Given the description of an element on the screen output the (x, y) to click on. 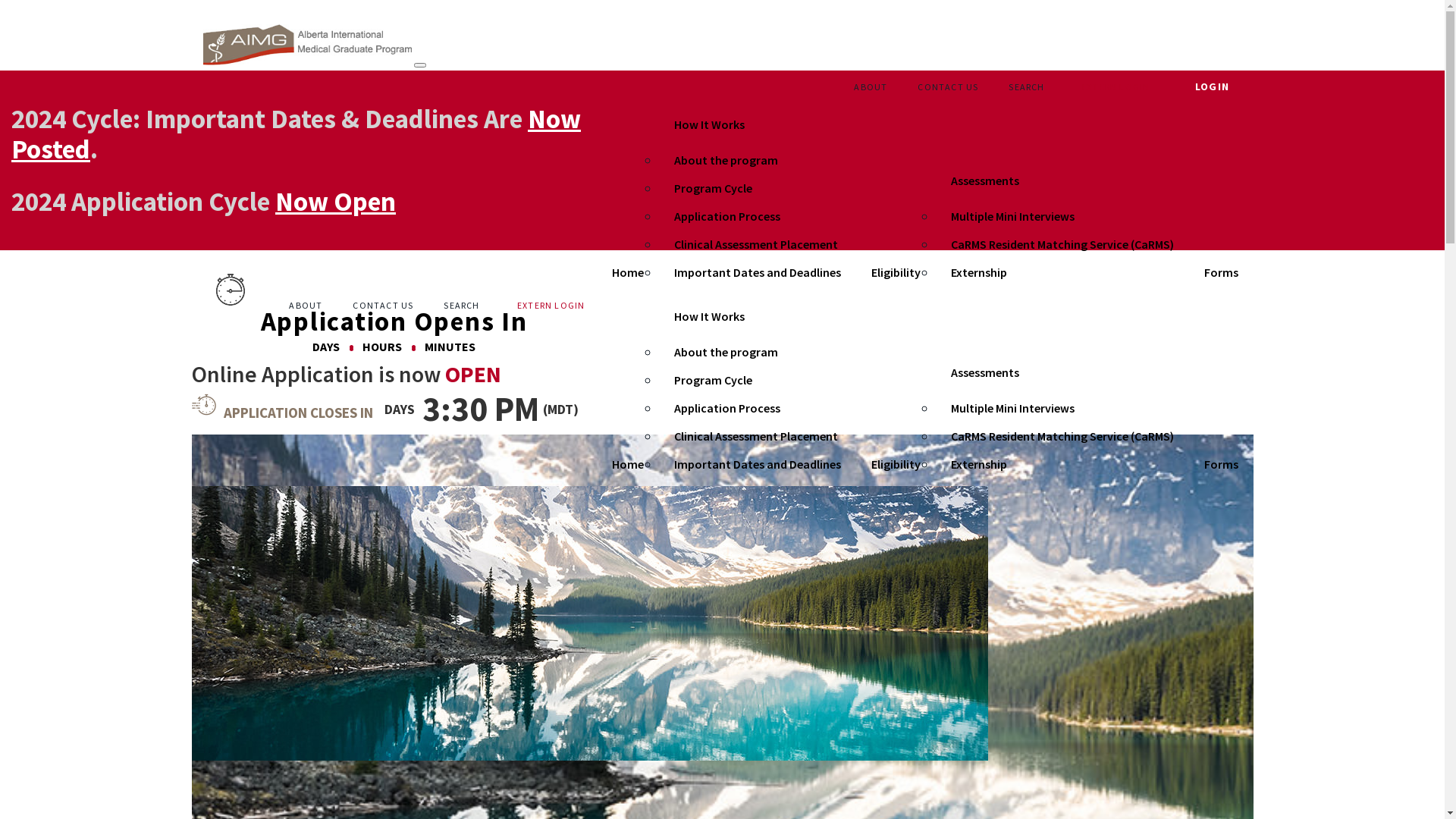
About the program Element type: text (756, 160)
How It Works Element type: text (708, 124)
ABOUT Element type: text (870, 87)
Clinical Assessment Placement Element type: text (756, 436)
Externship Element type: text (1062, 272)
CONTACT US Element type: text (947, 87)
Important Dates and Deadlines Element type: text (756, 272)
CaRMS Resident Matching Service (CaRMS) Element type: text (1062, 244)
Multiple Mini Interviews Element type: text (1062, 408)
Program Cycle Element type: text (756, 188)
Eligibility Element type: text (895, 272)
Home Element type: text (627, 464)
Assessments Element type: text (984, 372)
Forms Element type: text (1221, 464)
Assessments Element type: text (984, 180)
EXTERN LOGIN Element type: text (550, 305)
CONTACT US Element type: text (382, 305)
Clinical Assessment Placement Element type: text (756, 244)
SEARCH   Element type: text (1028, 87)
Application Process Element type: text (756, 408)
How It Works Element type: text (708, 316)
ABOUT Element type: text (305, 305)
About the program Element type: text (756, 352)
SEARCH   Element type: text (463, 305)
Program Cycle Element type: text (756, 380)
LOGIN Element type: text (1211, 86)
Externship Element type: text (1062, 464)
Important Dates and Deadlines Element type: text (756, 464)
Multiple Mini Interviews Element type: text (1062, 216)
EXTERN LOGIN Element type: text (1115, 87)
Home Element type: text (627, 272)
Now Open Element type: text (335, 201)
CaRMS Resident Matching Service (CaRMS) Element type: text (1062, 436)
Forms Element type: text (1221, 272)
Now Posted Element type: text (295, 134)
Application Process Element type: text (756, 216)
Eligibility Element type: text (895, 464)
